Given the description of an element on the screen output the (x, y) to click on. 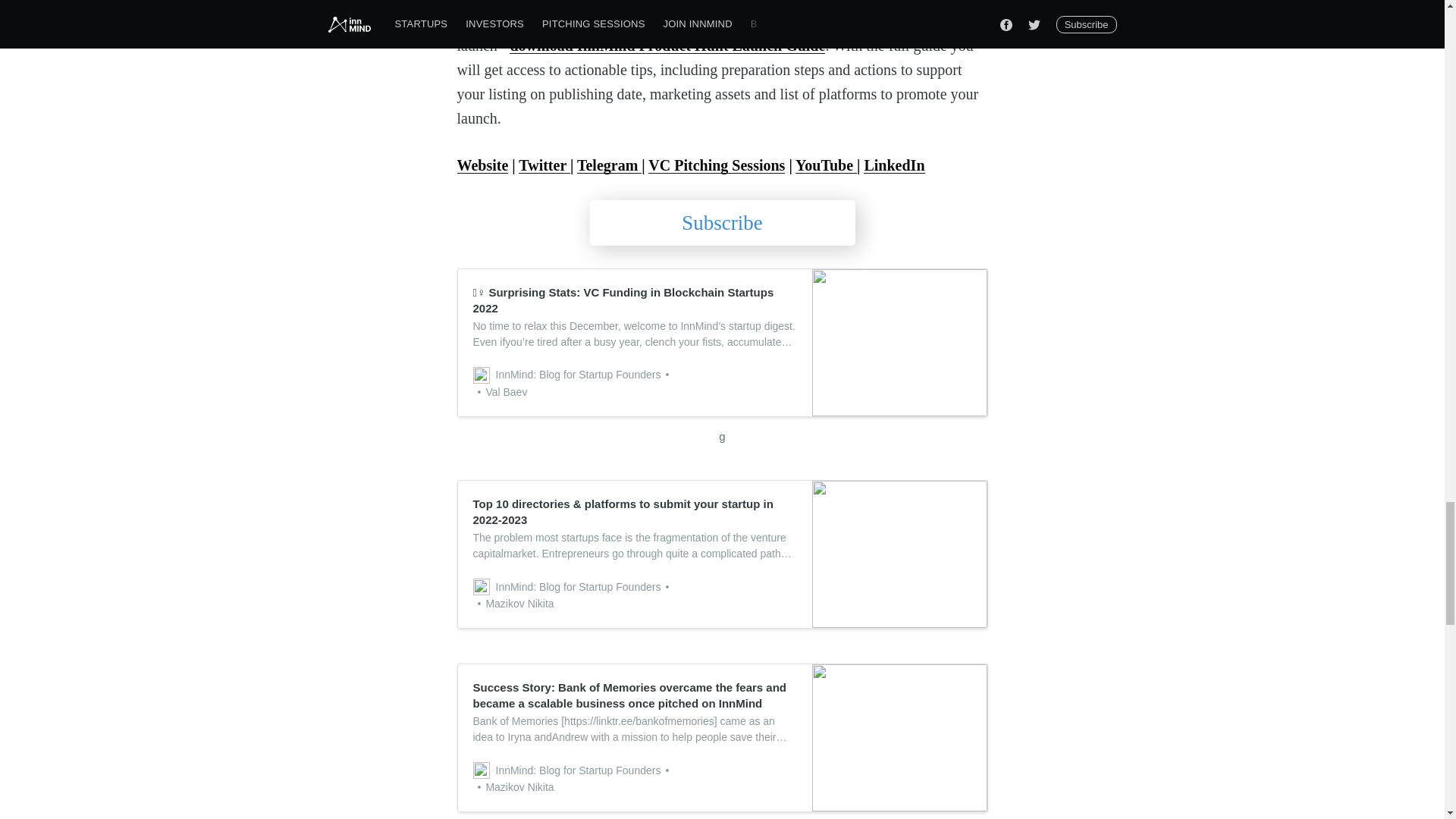
YouTube (825, 165)
Telegram (609, 165)
LinkedIn (893, 165)
Twitter (544, 165)
Website (482, 165)
VC Pitching Sessions (715, 165)
download InnMind Product Hunt Launch Guide (667, 45)
